Given the description of an element on the screen output the (x, y) to click on. 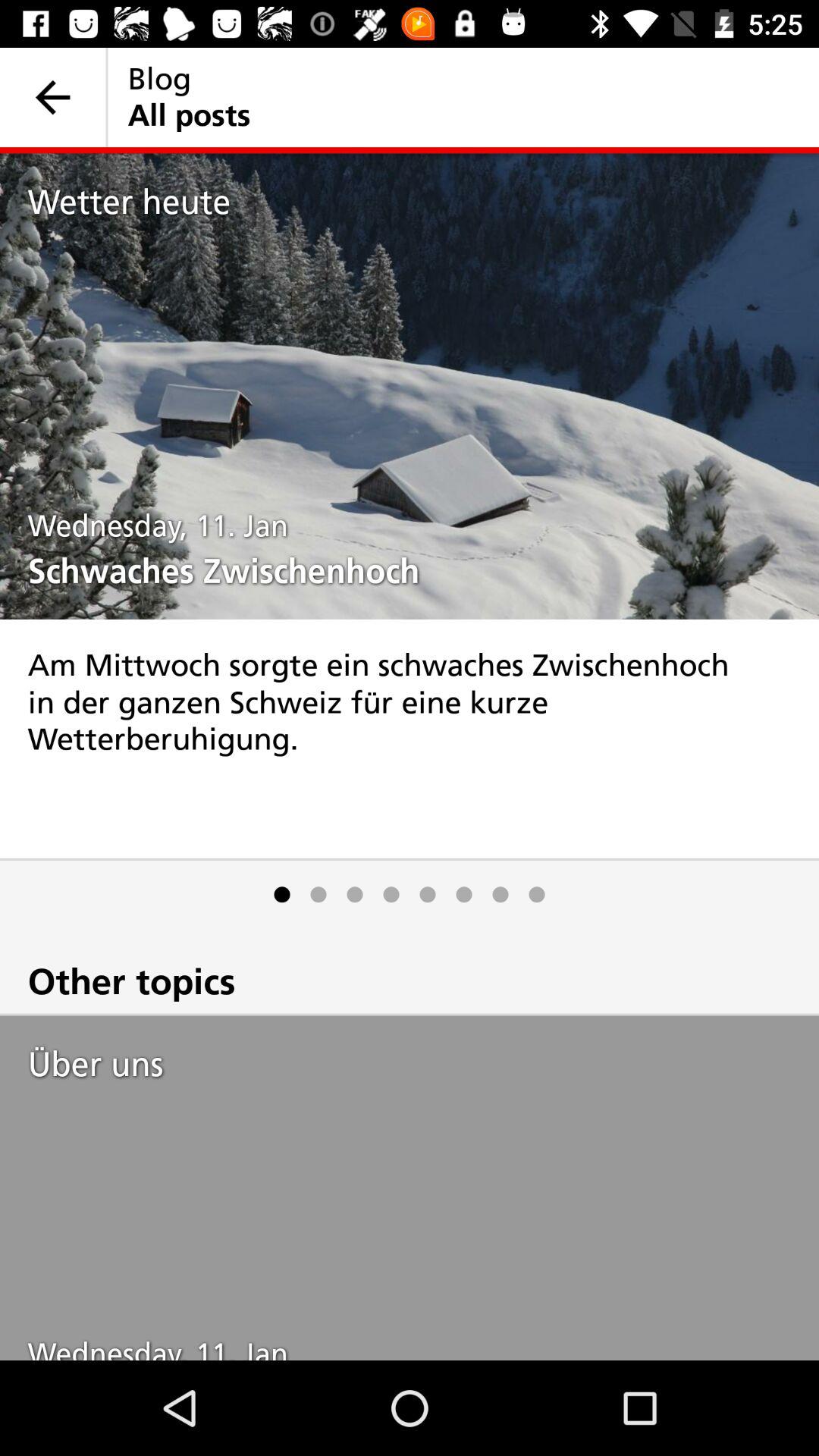
select icon above the other topics (354, 894)
